Given the description of an element on the screen output the (x, y) to click on. 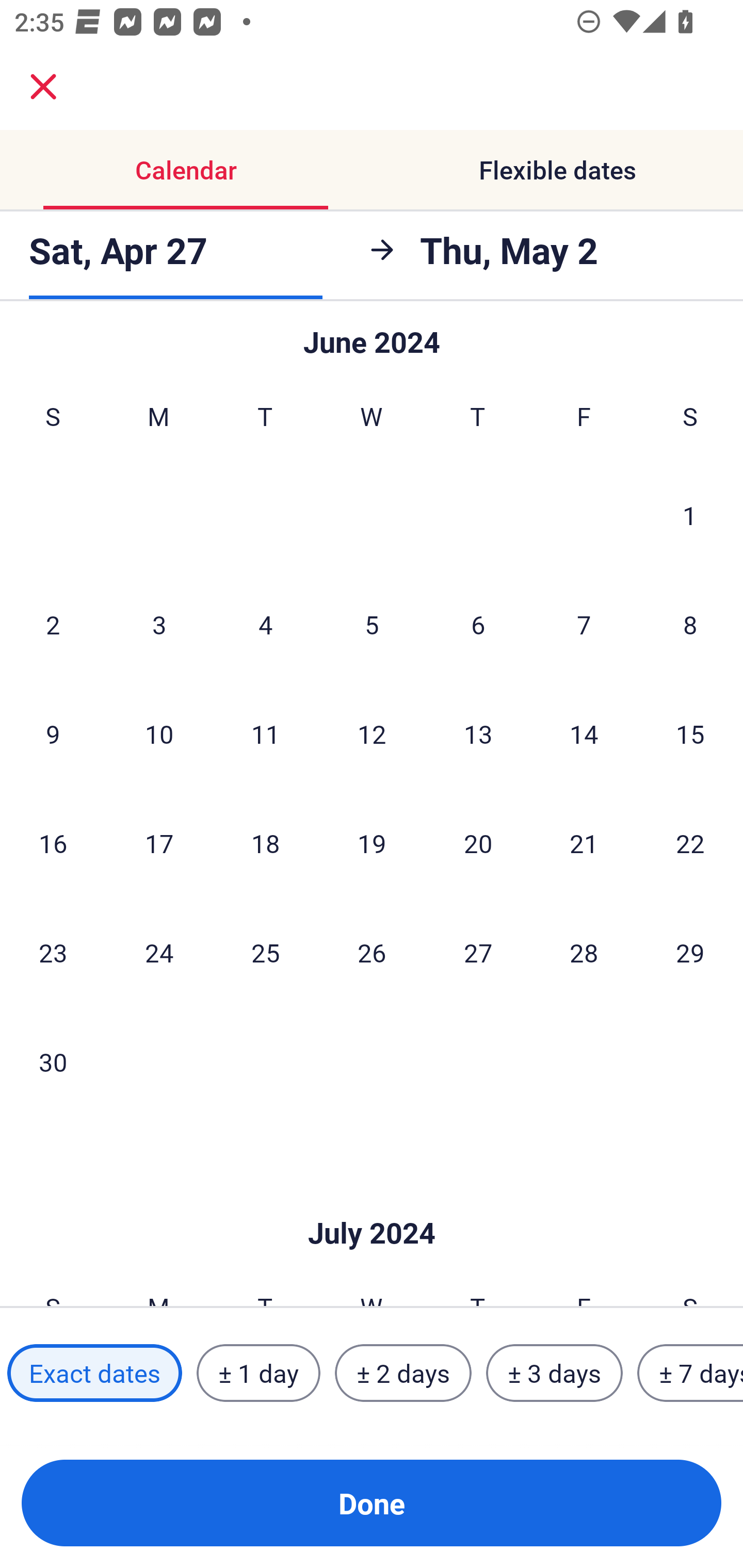
close. (43, 86)
Flexible dates (557, 170)
1 Saturday, June 1, 2024 (689, 514)
2 Sunday, June 2, 2024 (53, 623)
3 Monday, June 3, 2024 (159, 623)
4 Tuesday, June 4, 2024 (265, 623)
5 Wednesday, June 5, 2024 (371, 623)
6 Thursday, June 6, 2024 (477, 623)
7 Friday, June 7, 2024 (584, 623)
8 Saturday, June 8, 2024 (690, 623)
9 Sunday, June 9, 2024 (53, 733)
10 Monday, June 10, 2024 (159, 733)
11 Tuesday, June 11, 2024 (265, 733)
12 Wednesday, June 12, 2024 (371, 733)
13 Thursday, June 13, 2024 (477, 733)
14 Friday, June 14, 2024 (584, 733)
15 Saturday, June 15, 2024 (690, 733)
16 Sunday, June 16, 2024 (53, 842)
17 Monday, June 17, 2024 (159, 842)
18 Tuesday, June 18, 2024 (265, 842)
19 Wednesday, June 19, 2024 (371, 842)
20 Thursday, June 20, 2024 (477, 842)
21 Friday, June 21, 2024 (584, 842)
22 Saturday, June 22, 2024 (690, 842)
23 Sunday, June 23, 2024 (53, 952)
24 Monday, June 24, 2024 (159, 952)
25 Tuesday, June 25, 2024 (265, 952)
26 Wednesday, June 26, 2024 (371, 952)
27 Thursday, June 27, 2024 (477, 952)
28 Friday, June 28, 2024 (584, 952)
29 Saturday, June 29, 2024 (690, 952)
30 Sunday, June 30, 2024 (53, 1061)
Skip to Done (371, 1201)
Exact dates (94, 1372)
± 1 day (258, 1372)
± 2 days (403, 1372)
± 3 days (553, 1372)
± 7 days (690, 1372)
Done (371, 1502)
